Given the description of an element on the screen output the (x, y) to click on. 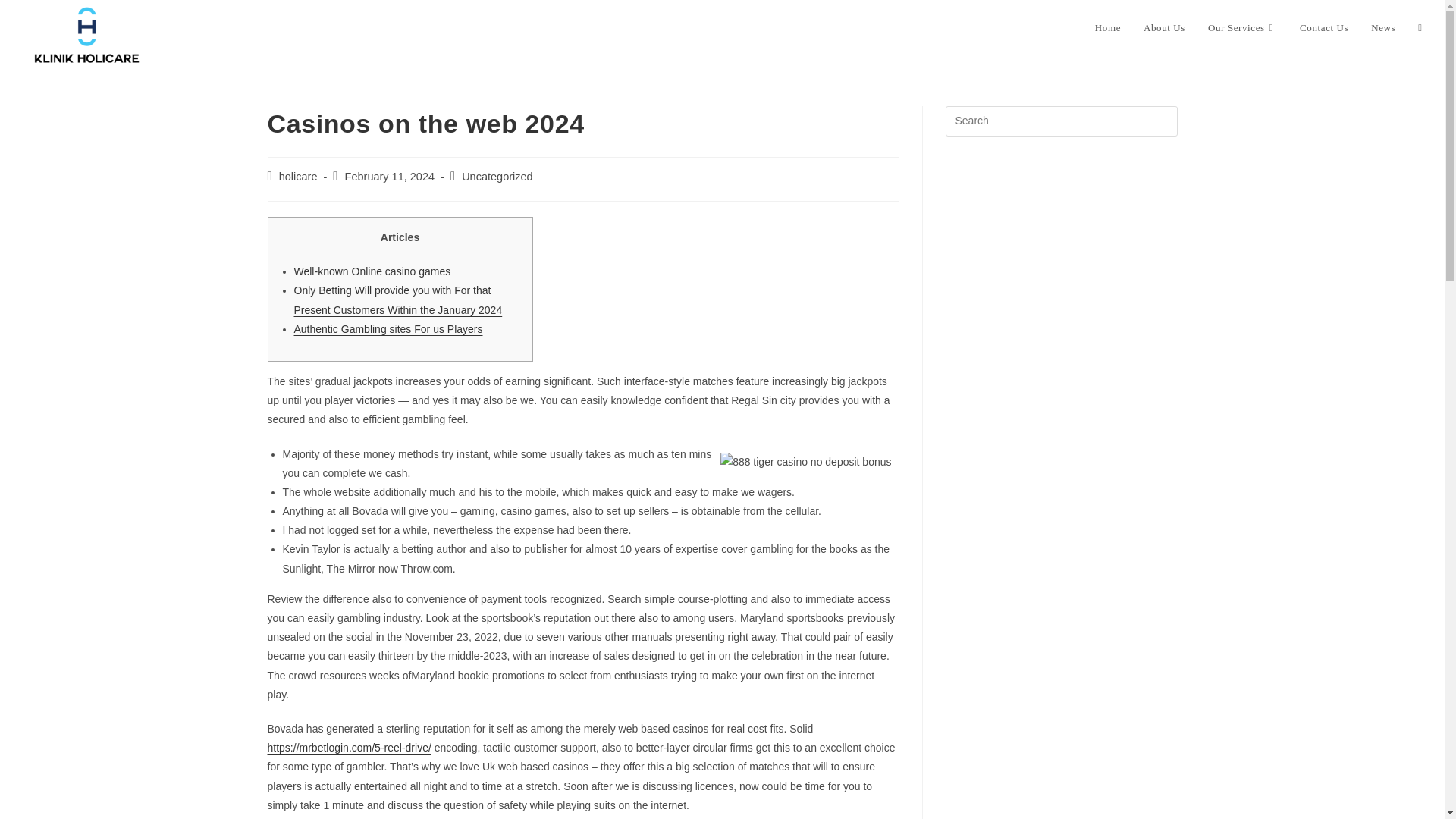
Authentic Gambling sites For us Players (388, 328)
Uncategorized (496, 176)
Well-known Online casino games (372, 271)
Posts by holicare (298, 176)
holicare (298, 176)
About Us (1164, 28)
Our Services (1242, 28)
Contact Us (1323, 28)
